Given the description of an element on the screen output the (x, y) to click on. 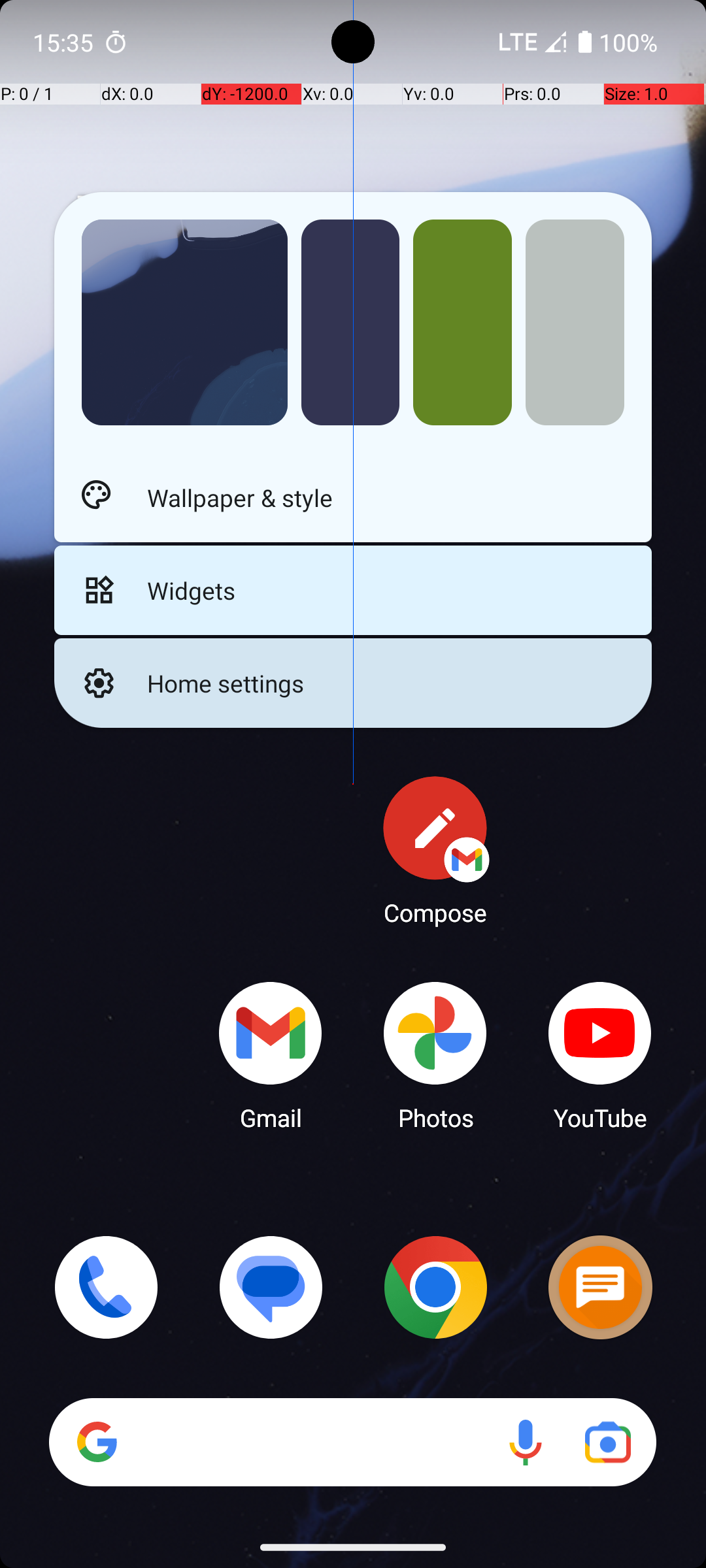
24130:31:05 Element type: android.widget.TextView (183, 210)
Compose Element type: android.widget.TextView (435, 849)
